Given the description of an element on the screen output the (x, y) to click on. 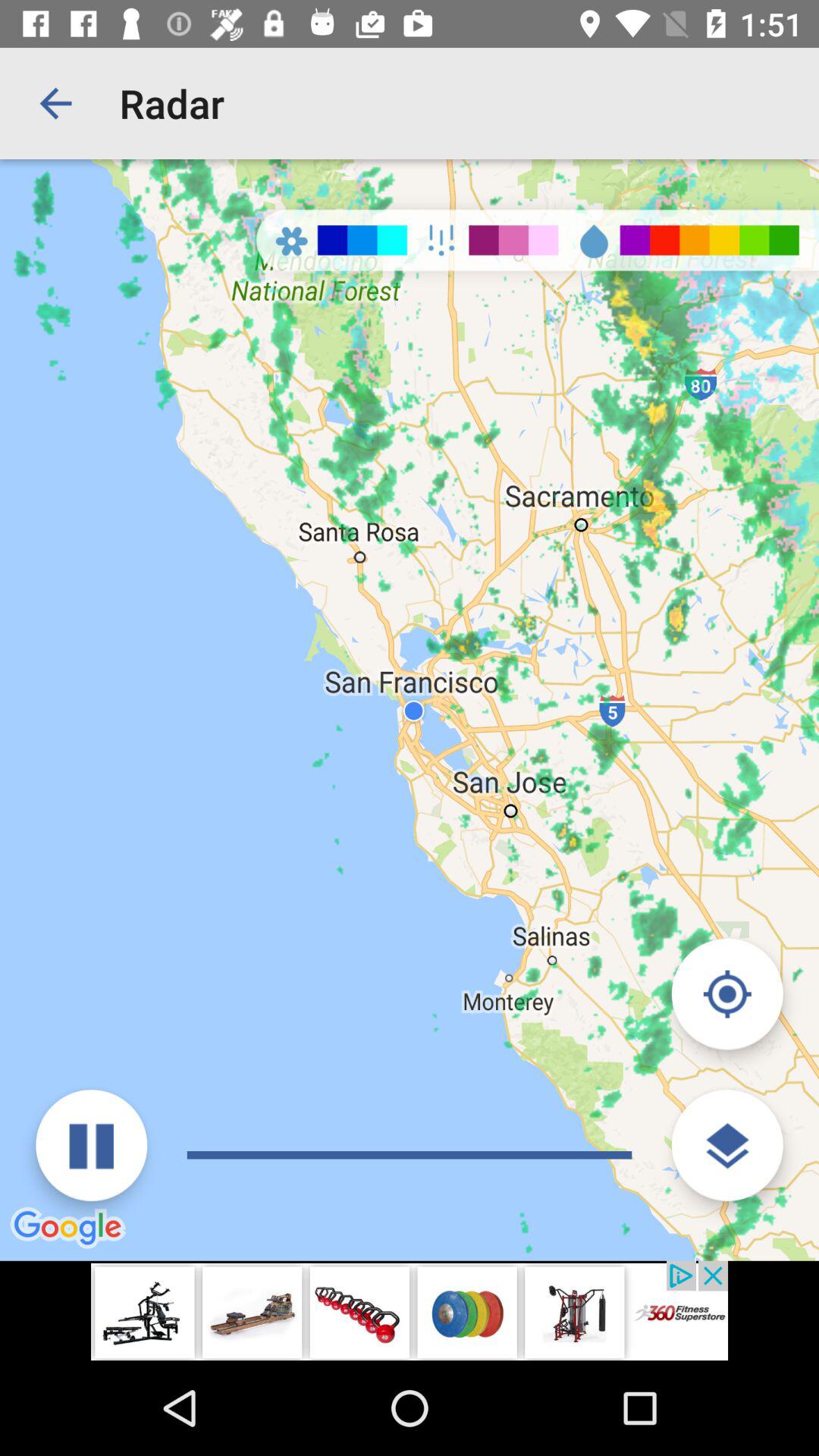
pause playback (91, 1145)
